Given the description of an element on the screen output the (x, y) to click on. 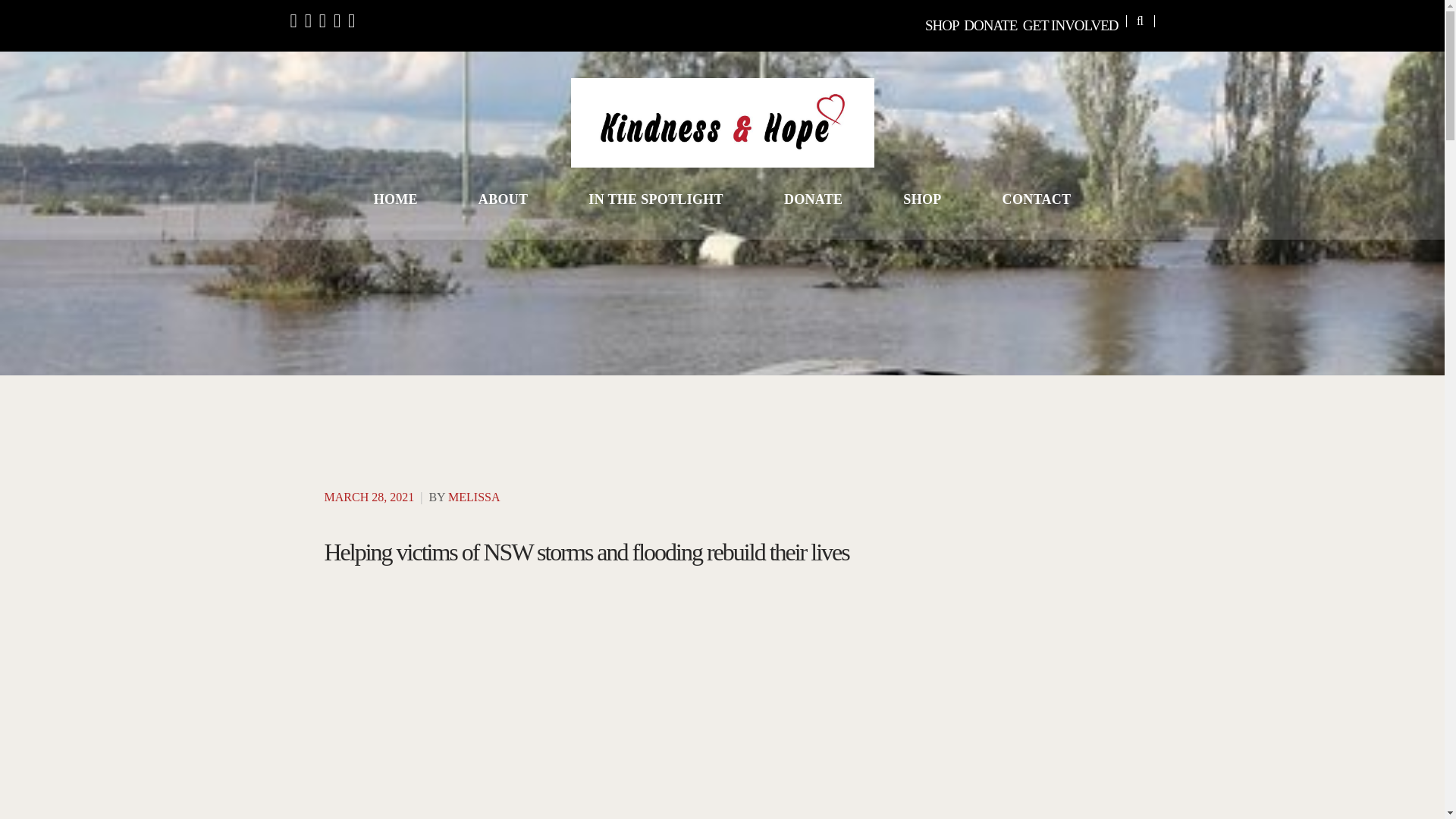
ABOUT (503, 199)
GET INVOLVED (1070, 25)
IN THE SPOTLIGHT (655, 199)
SHOP (941, 25)
DONATE (989, 25)
DONATE (813, 199)
HOME (395, 199)
